Given the description of an element on the screen output the (x, y) to click on. 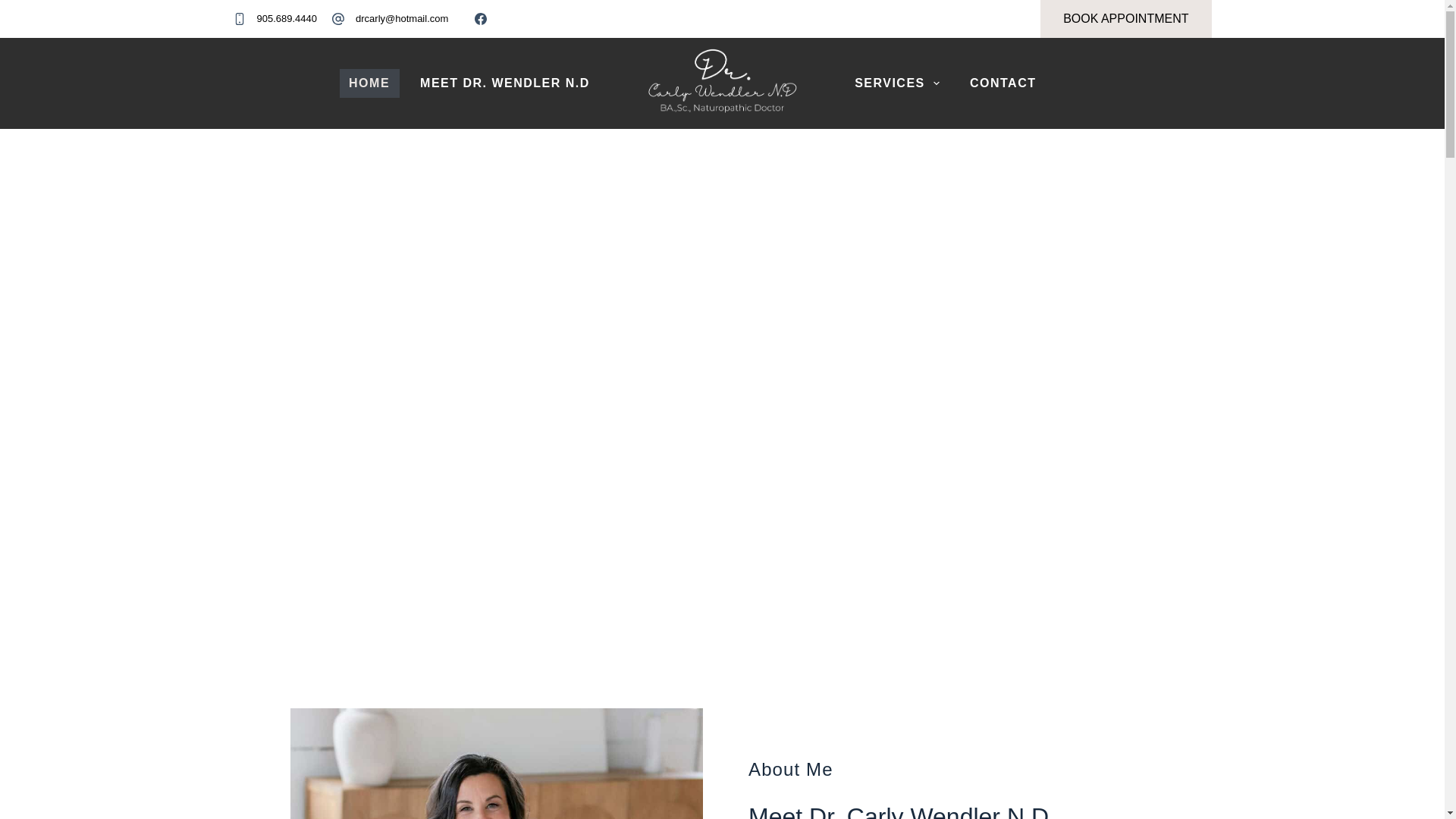
MEET DR. WENDLER N.D (504, 82)
SERVICES (897, 82)
CONTACT (1002, 82)
Skip to content (15, 7)
905.689.4440 (286, 18)
HOME (368, 82)
BOOK APPOINTMENT (1126, 18)
